Given the description of an element on the screen output the (x, y) to click on. 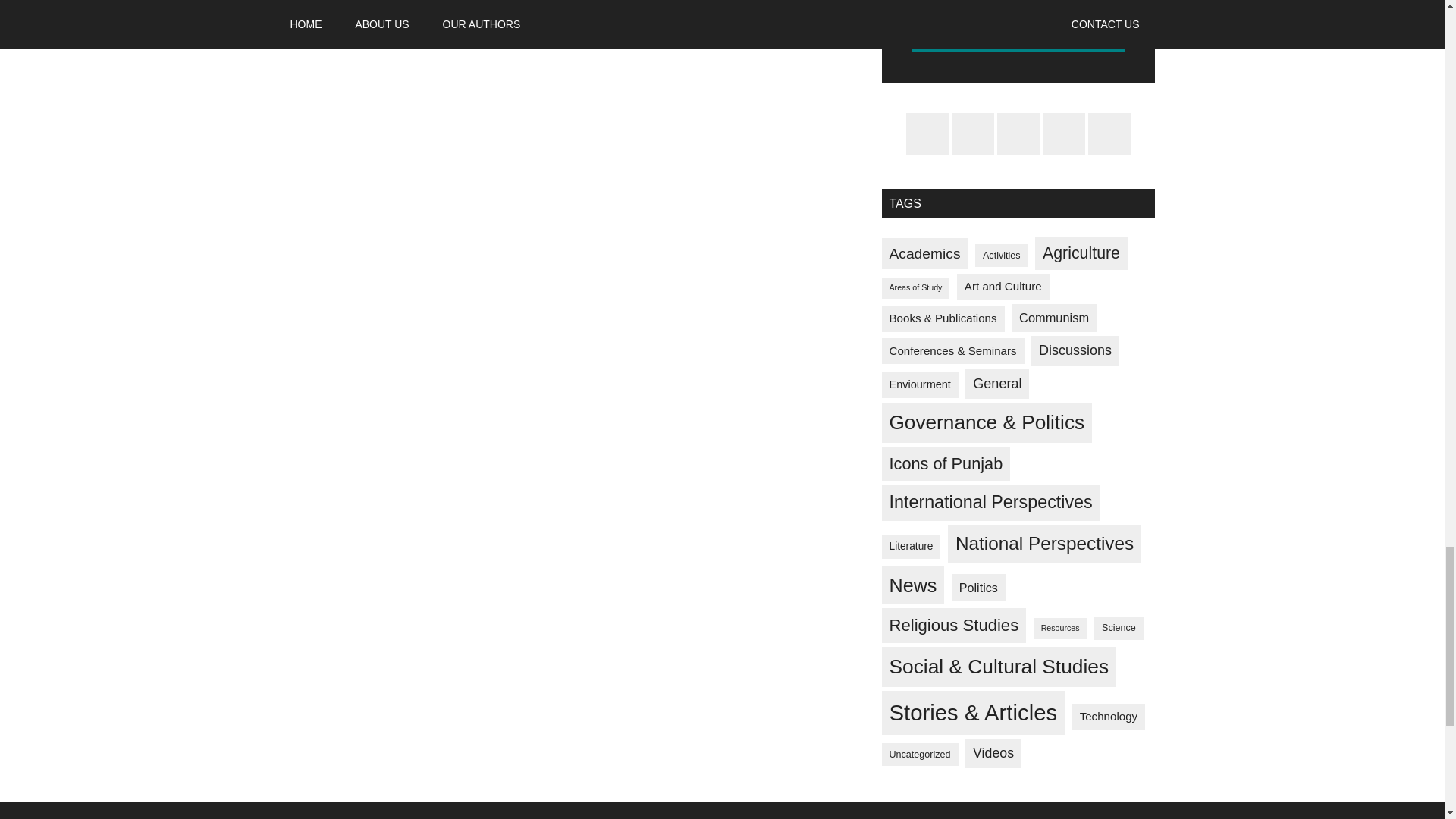
Subscribe (1017, 31)
